Given the description of an element on the screen output the (x, y) to click on. 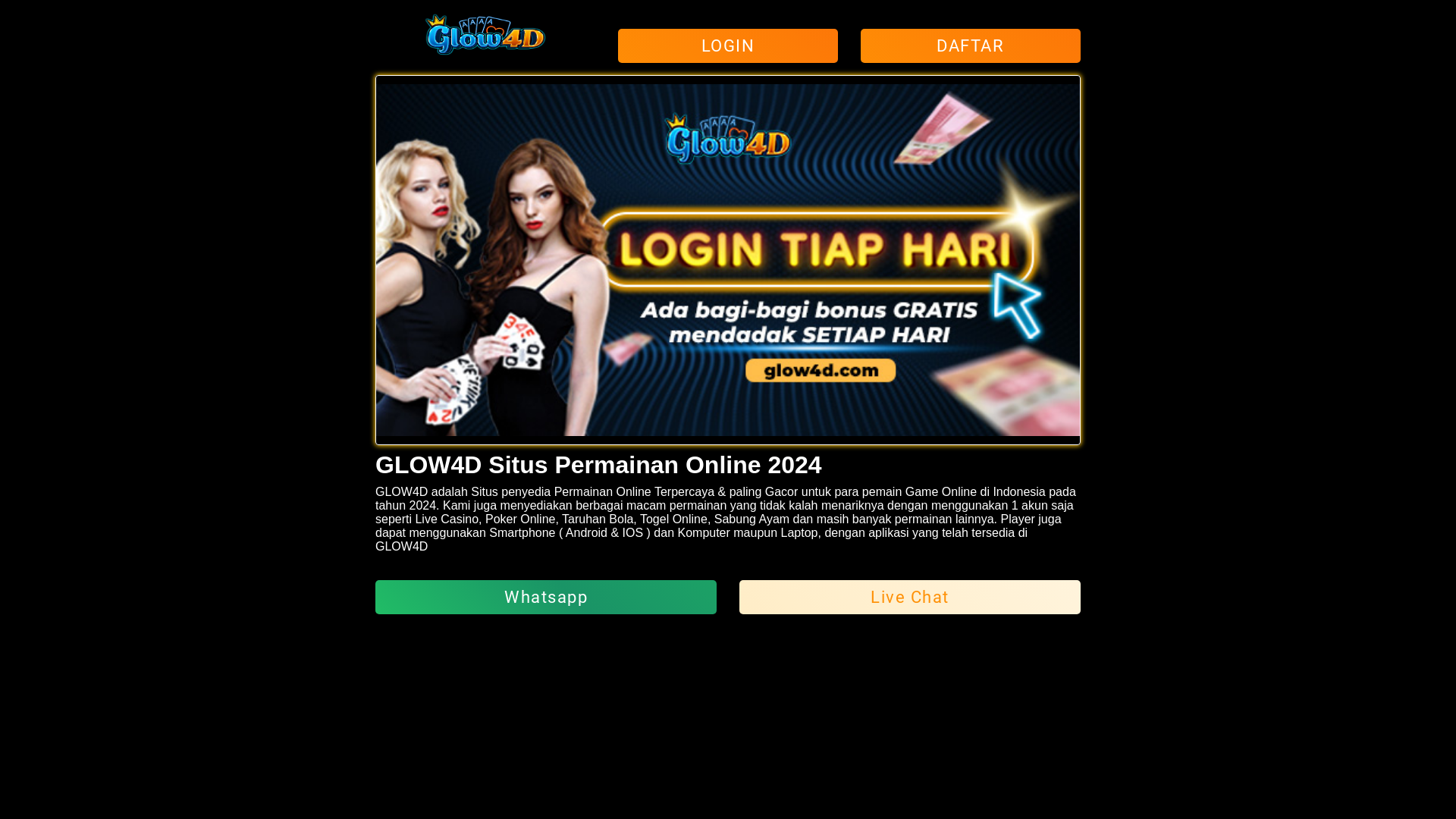
DAFTAR Element type: text (970, 46)
GLOW4D Element type: text (401, 545)
LOGIN Element type: text (727, 46)
DAFTAR Element type: text (970, 45)
Live Chat Element type: text (909, 598)
Whatsapp Element type: text (545, 598)
Whatsapp Element type: text (545, 597)
LOGIN Element type: text (727, 45)
Live Chat Element type: text (909, 597)
GLOW4D Element type: text (401, 491)
